Given the description of an element on the screen output the (x, y) to click on. 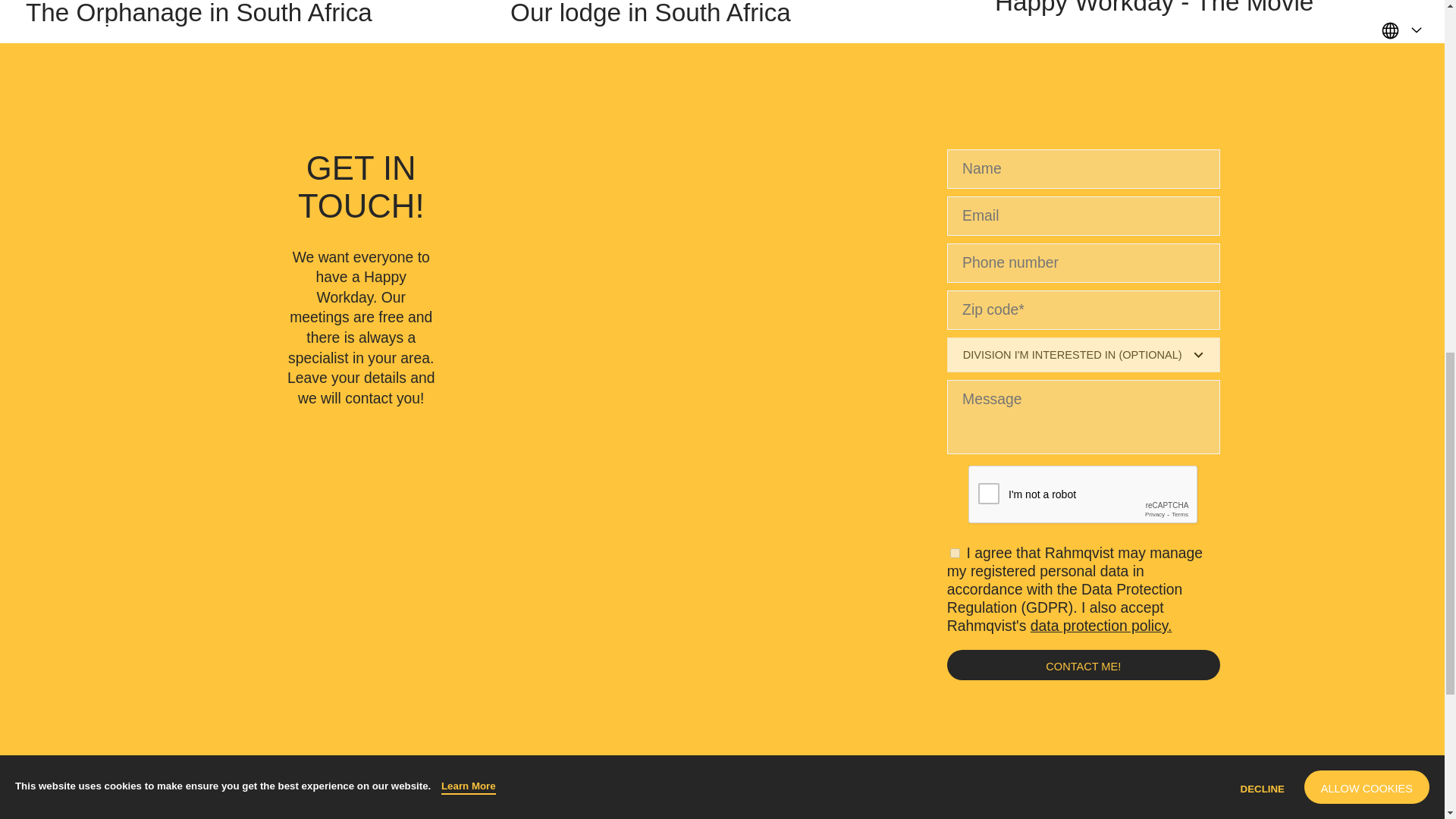
accepted (954, 552)
Contact me! (1083, 665)
reCAPTCHA (1083, 495)
data protection policy. (1206, 21)
Contact me! (1101, 625)
